Given the description of an element on the screen output the (x, y) to click on. 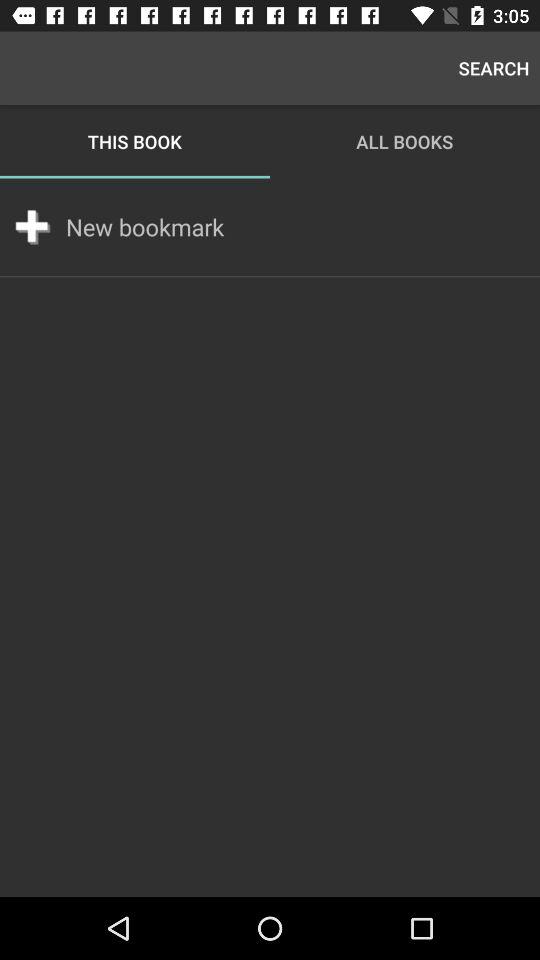
click the item above all books item (494, 67)
